Given the description of an element on the screen output the (x, y) to click on. 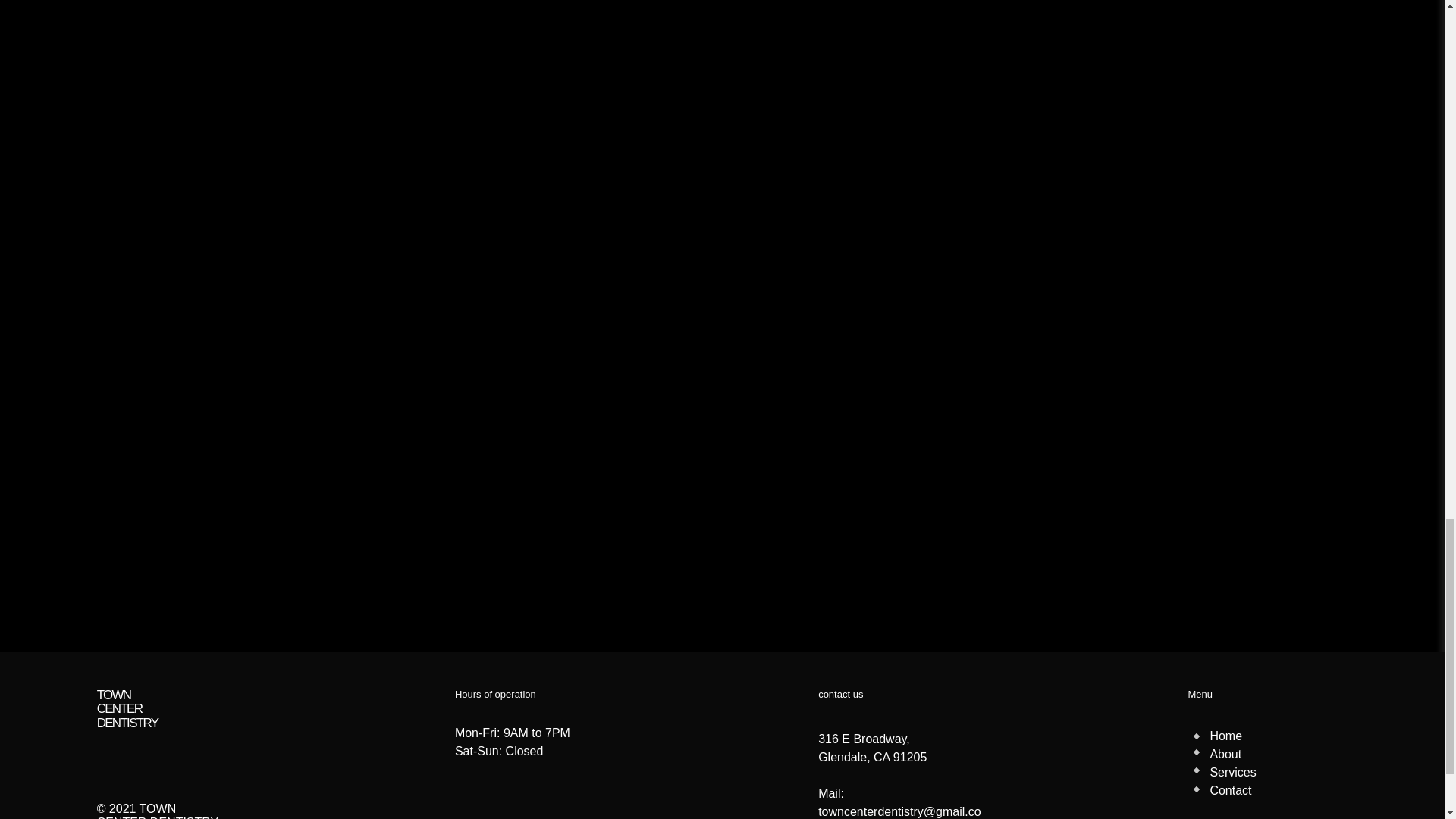
About (1225, 753)
Home (1225, 735)
Contact (1229, 789)
TOWN (114, 694)
Services (1232, 771)
